Given the description of an element on the screen output the (x, y) to click on. 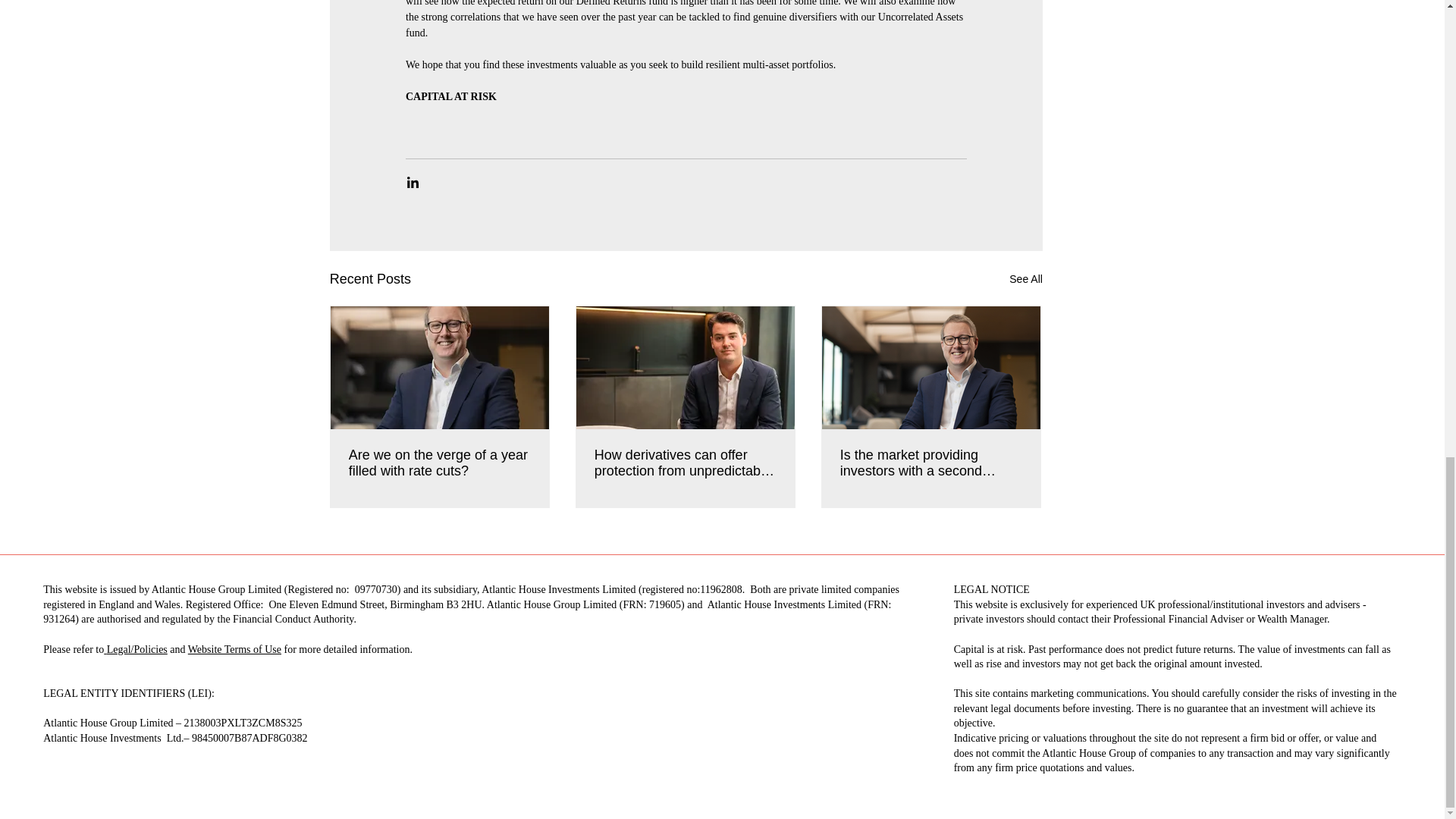
Website Terms of Use (234, 649)
See All (1025, 279)
Are we on the verge of a year filled with rate cuts? (440, 463)
